Given the description of an element on the screen output the (x, y) to click on. 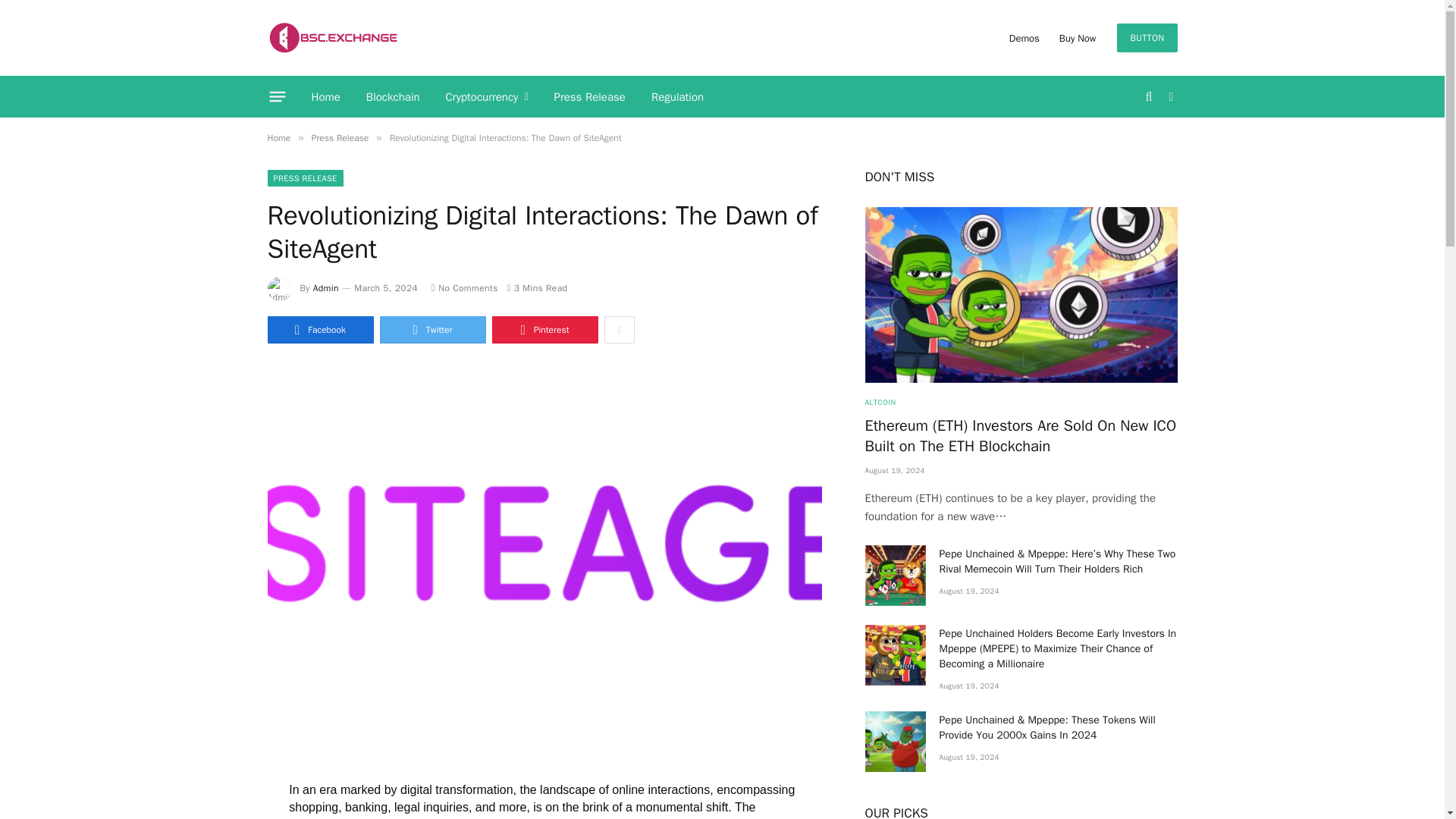
Pinterest (544, 329)
Posts by Admin (326, 287)
PRESS RELEASE (304, 177)
Press Release (340, 137)
Regulation (677, 96)
Home (325, 96)
Admin (326, 287)
Share on Pinterest (544, 329)
Facebook (319, 329)
Cryptocurrency (486, 96)
